Given the description of an element on the screen output the (x, y) to click on. 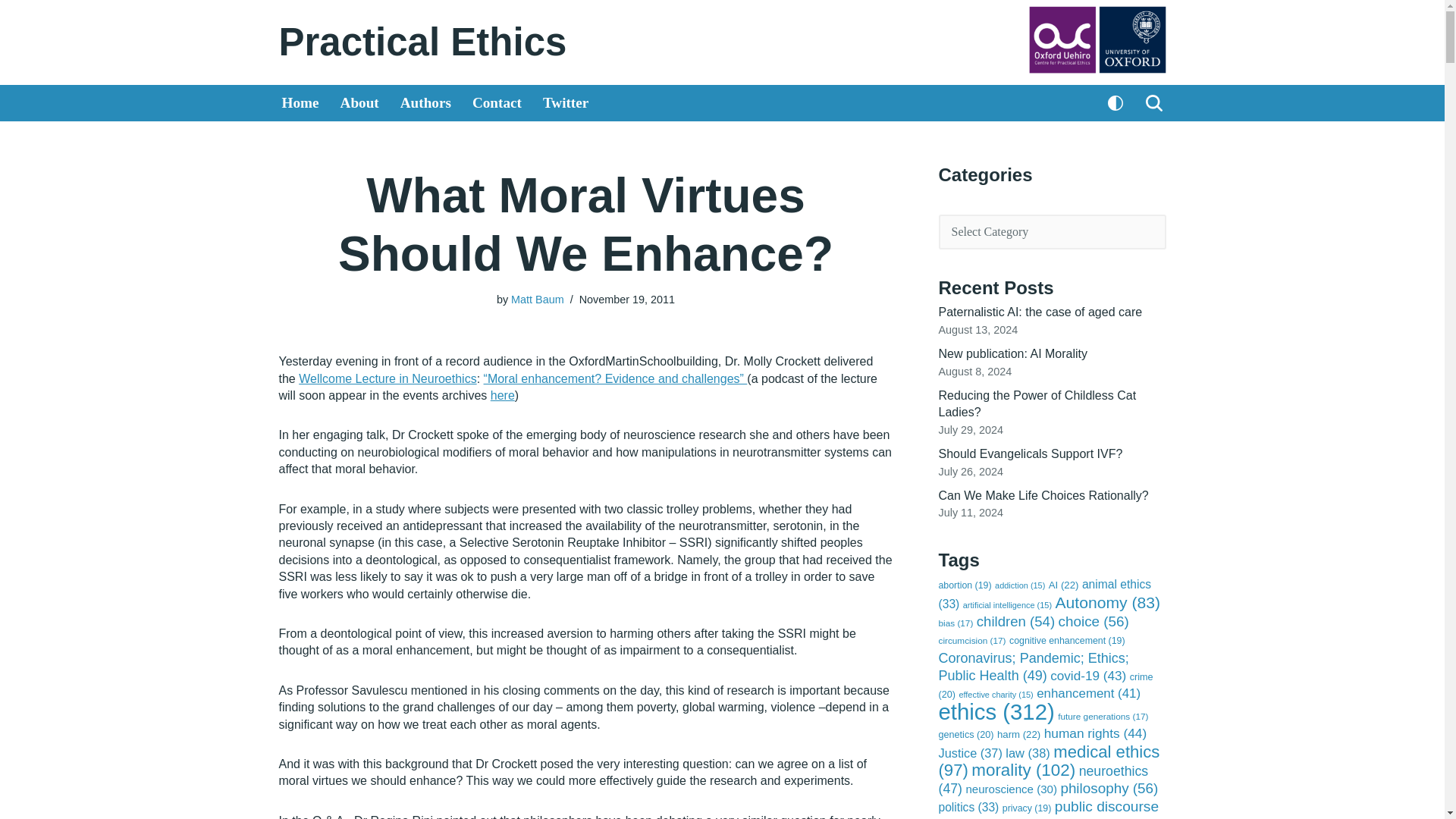
Practical Ethics (423, 41)
Authors (425, 102)
Matt Baum (537, 299)
Contact (496, 102)
Skip to content (11, 31)
Twitter (565, 102)
Wellcome Lecture in Neuroethics (387, 378)
About (359, 102)
Posts by Matt Baum (537, 299)
here (502, 395)
